Given the description of an element on the screen output the (x, y) to click on. 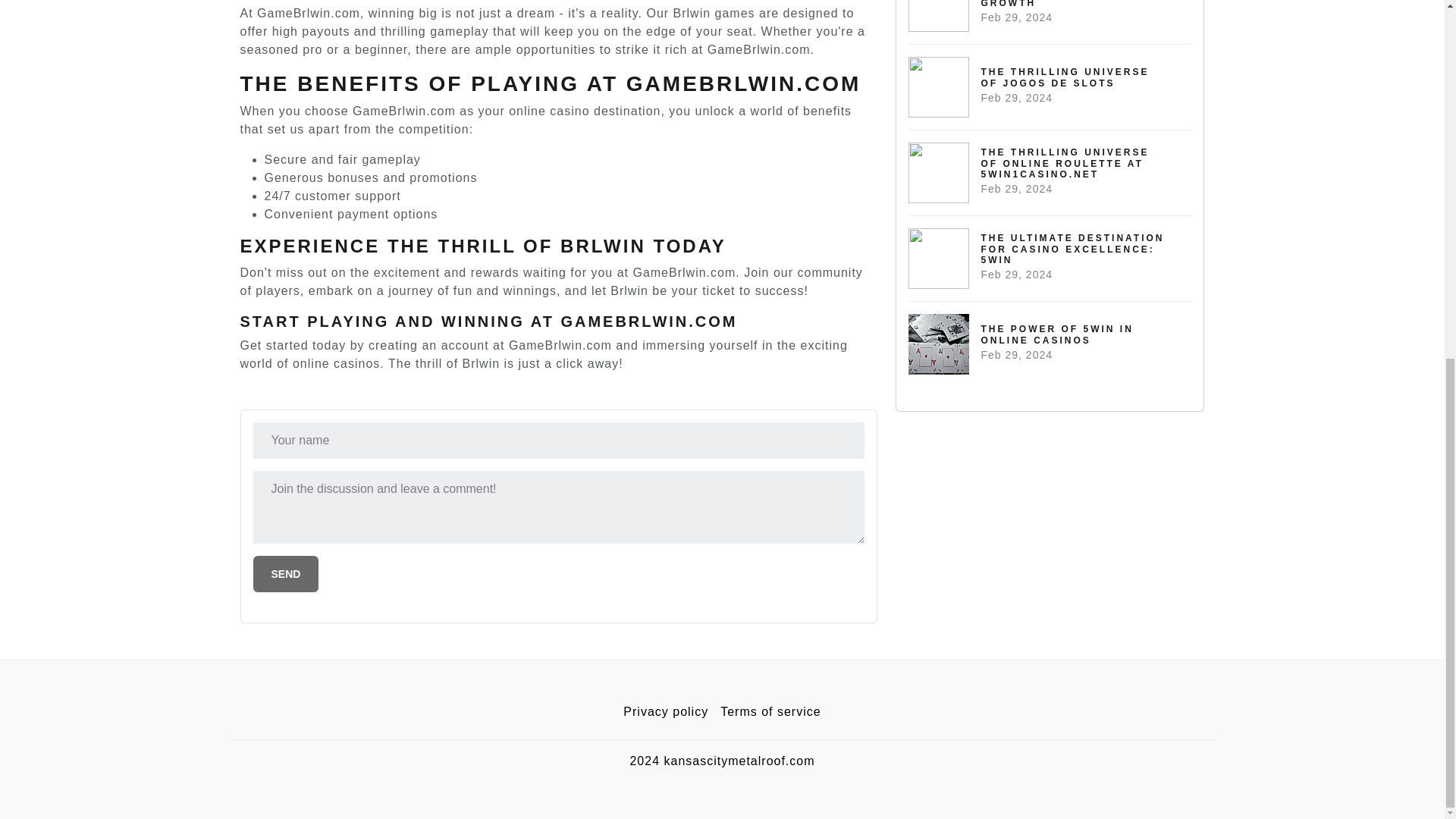
Privacy policy (665, 711)
Send (285, 574)
Terms of service (1050, 343)
Send (1050, 22)
